Given the description of an element on the screen output the (x, y) to click on. 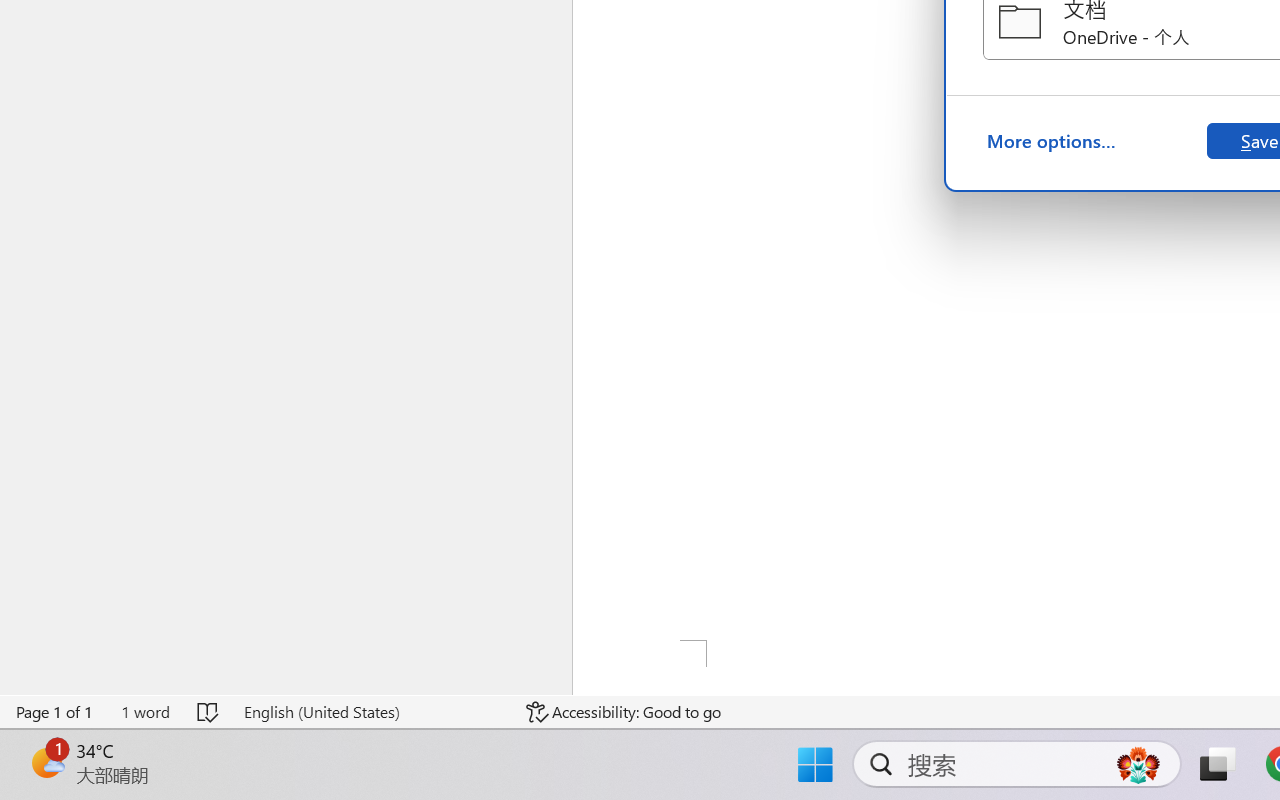
Spelling and Grammar Check No Errors (208, 712)
Accessibility Checker Accessibility: Good to go (623, 712)
AutomationID: BadgeAnchorLargeTicker (46, 762)
Language English (United States) (370, 712)
Page Number Page 1 of 1 (55, 712)
Word Count 1 word (145, 712)
AutomationID: DynamicSearchBoxGleamImage (1138, 764)
